Given the description of an element on the screen output the (x, y) to click on. 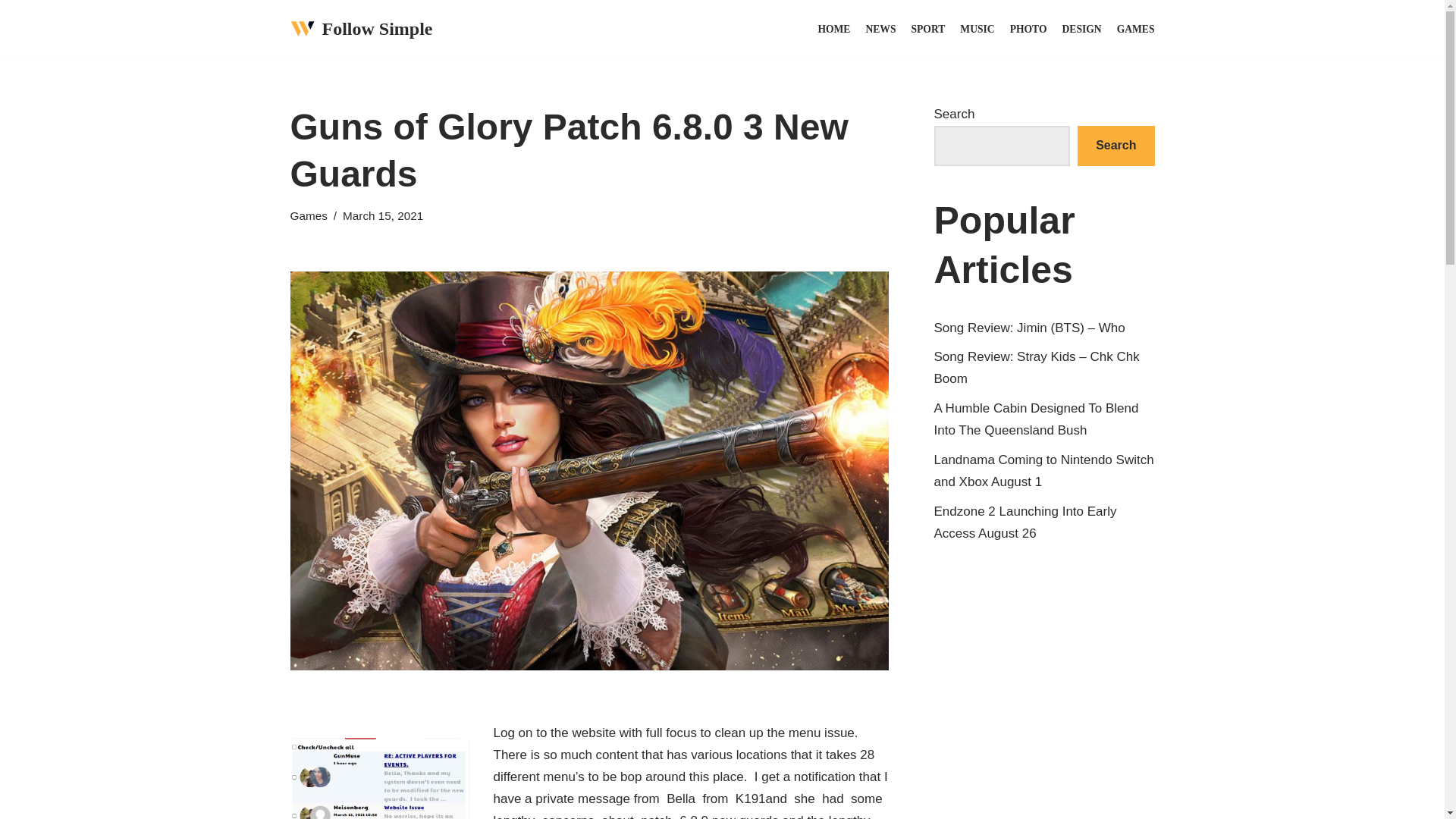
SPORT (927, 28)
Endzone 2 Launching Into Early Access August 26 (1025, 522)
Follow Simple (360, 29)
A Humble Cabin Designed To Blend Into The Queensland Bush (1036, 419)
Skip to content (11, 31)
Landnama Coming to Nintendo Switch and Xbox August 1 (1044, 470)
Games (307, 215)
Follow Simple (360, 29)
Search (1115, 146)
MUSIC (976, 28)
HOME (833, 28)
DESIGN (1082, 28)
PHOTO (1028, 28)
GAMES (1135, 28)
NEWS (879, 28)
